Given the description of an element on the screen output the (x, y) to click on. 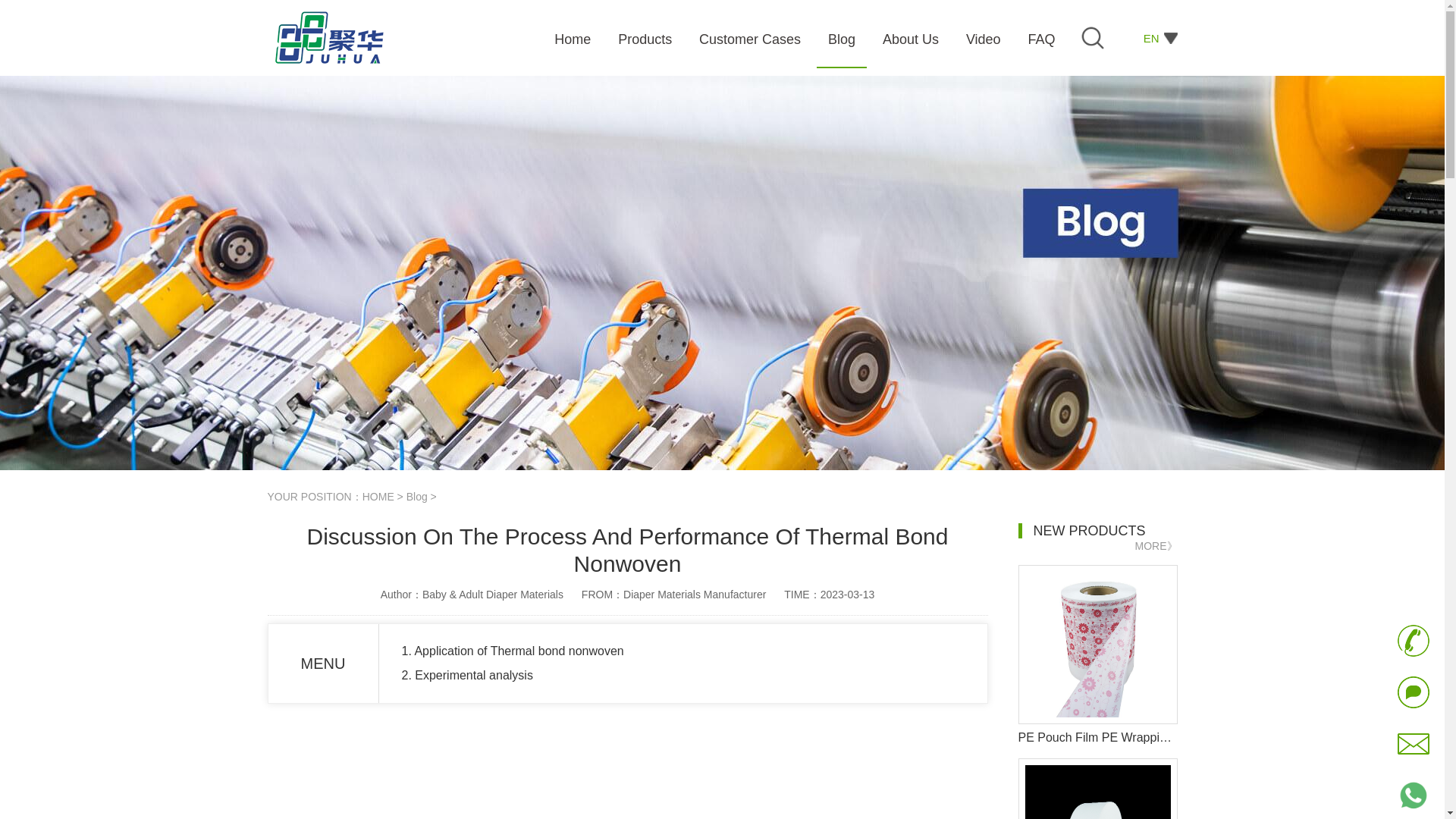
Customer Cases (751, 39)
About Us (912, 39)
HOME (378, 496)
2. Experimental analysis (466, 675)
Blog (417, 496)
1. Application of Thermal bond nonwoven (512, 650)
Products (646, 39)
